Given the description of an element on the screen output the (x, y) to click on. 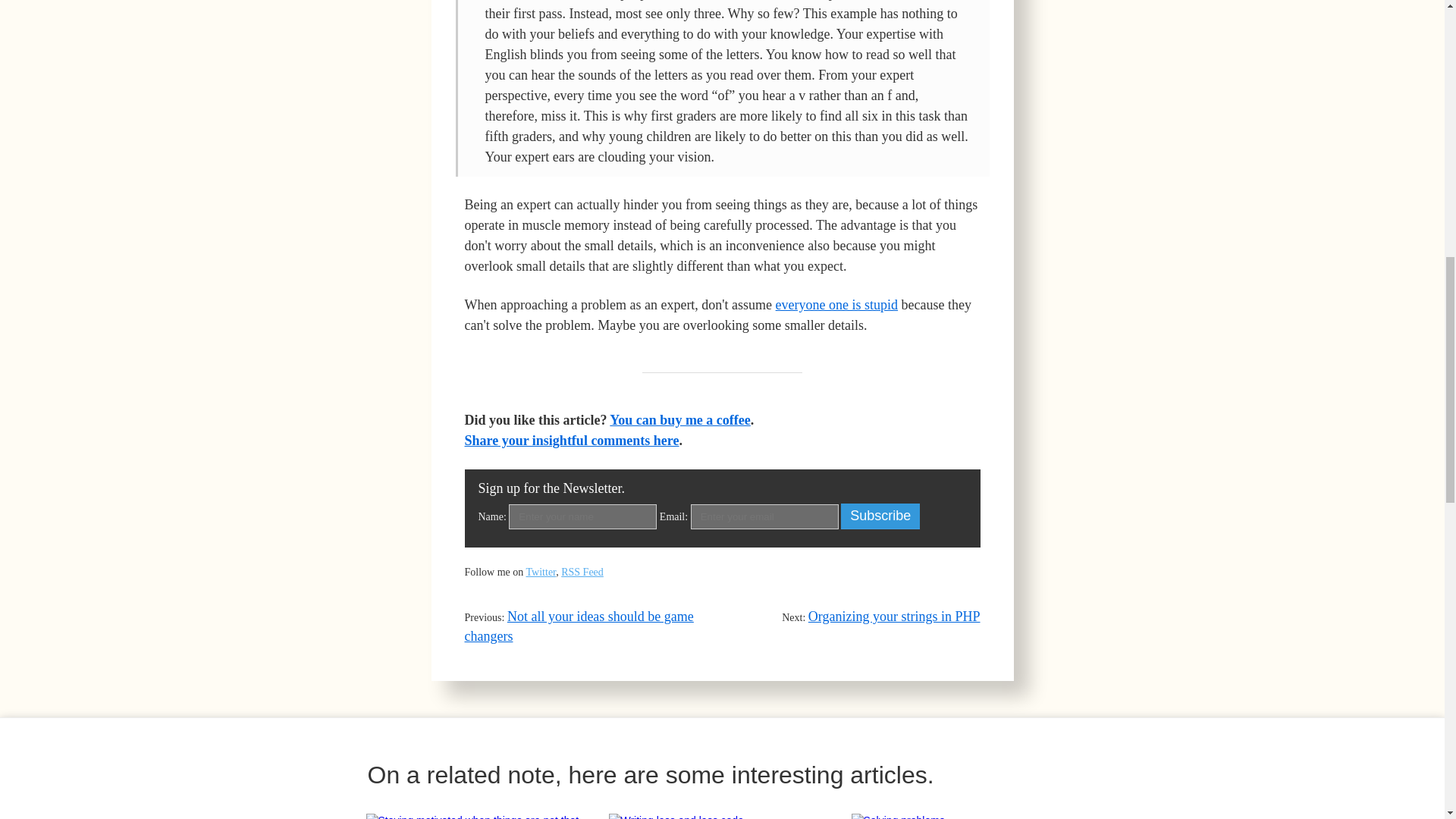
Share your insightful comments here (571, 440)
Subscribe (880, 516)
Organizing your strings in PHP (893, 616)
You can buy me a coffee (679, 419)
Twitter (540, 572)
Writing less and less code (721, 816)
everyone one is stupid (837, 304)
Not all your ideas should be game changers (578, 626)
RSS Feed (582, 572)
Solving problems (964, 816)
